Given the description of an element on the screen output the (x, y) to click on. 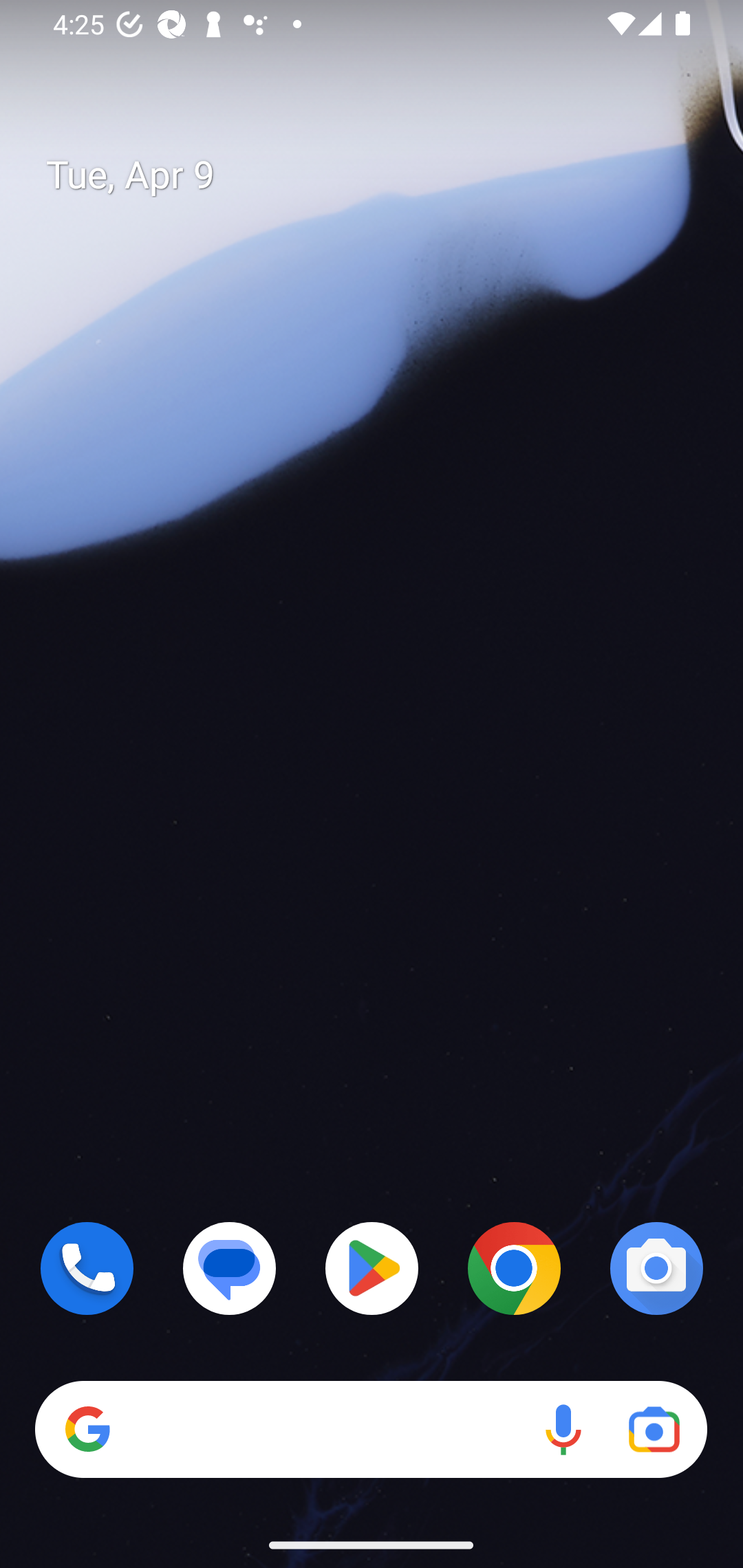
Tue, Apr 9 (386, 175)
Phone (86, 1268)
Messages (229, 1268)
Play Store (371, 1268)
Chrome (513, 1268)
Camera (656, 1268)
Voice search (562, 1429)
Google Lens (653, 1429)
